Given the description of an element on the screen output the (x, y) to click on. 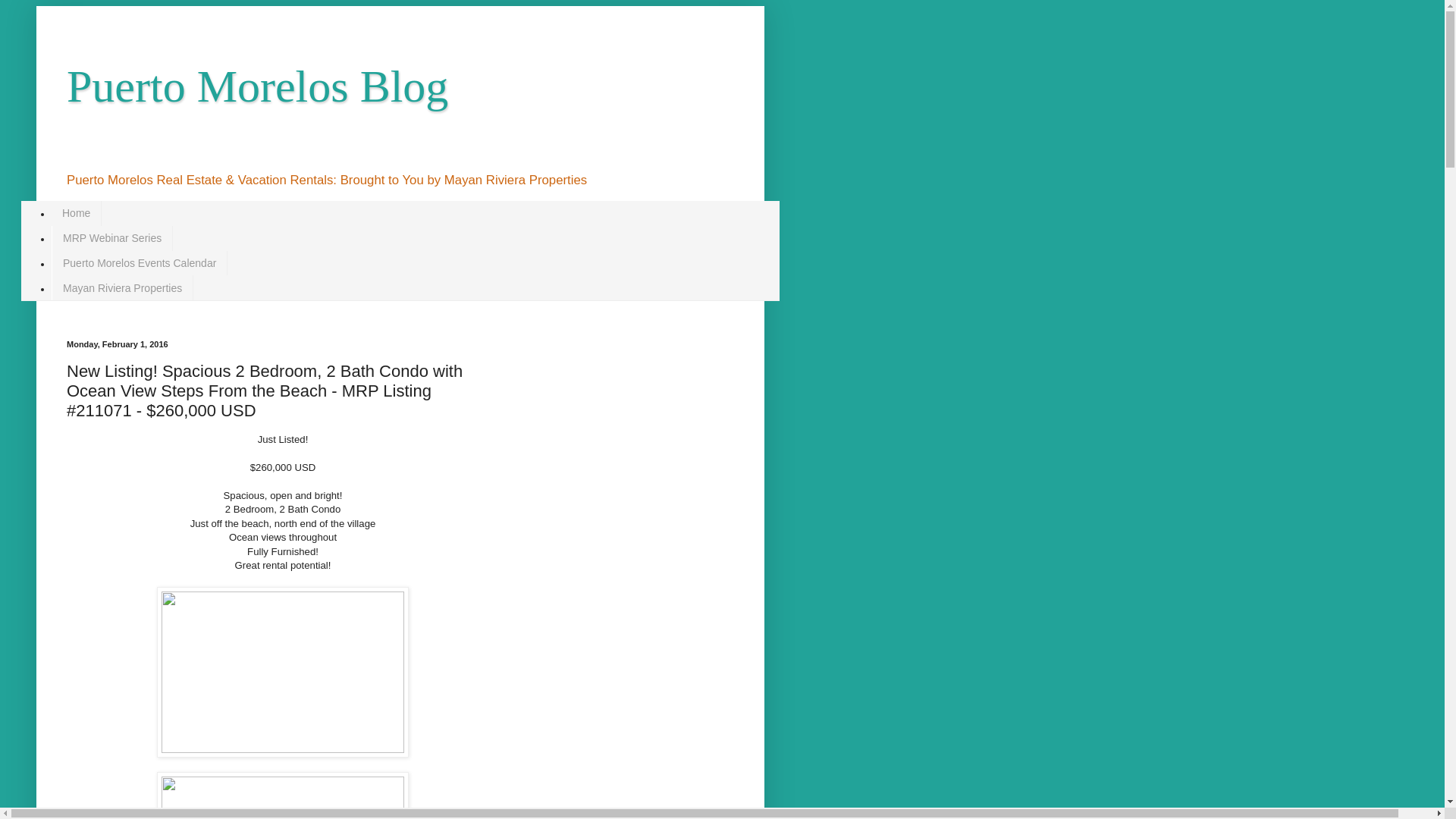
MRP Webinar Series (111, 238)
Mayan Riviera Properties (121, 287)
Puerto Morelos Blog (257, 86)
Home (75, 213)
Puerto Morelos Events Calendar (138, 263)
